Given the description of an element on the screen output the (x, y) to click on. 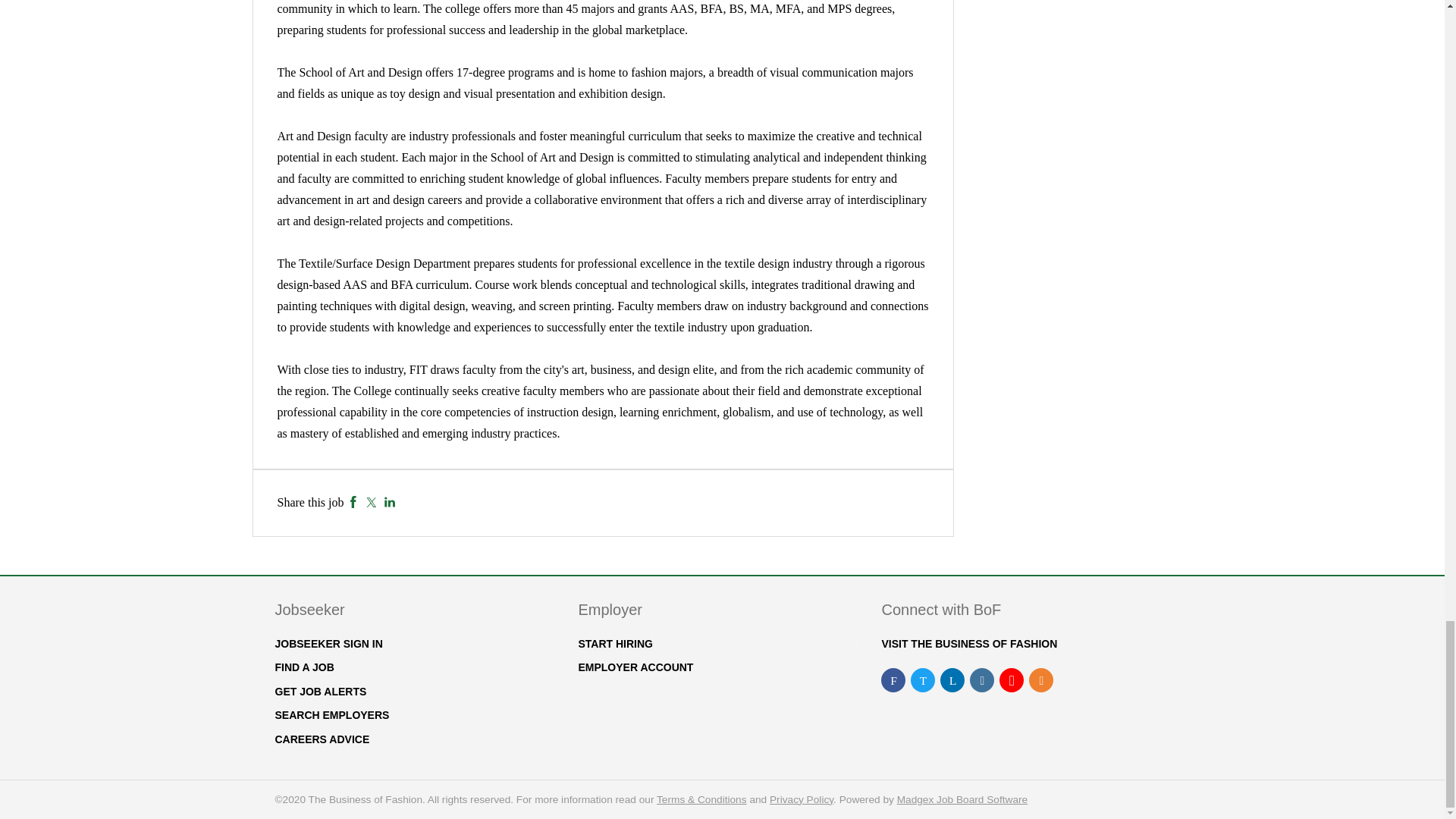
Twitter (371, 502)
GET JOB ALERTS (320, 691)
LinkedIn (390, 502)
JOBSEEKER SIGN IN (328, 644)
Facebook (353, 502)
FIND A JOB (304, 666)
